Given the description of an element on the screen output the (x, y) to click on. 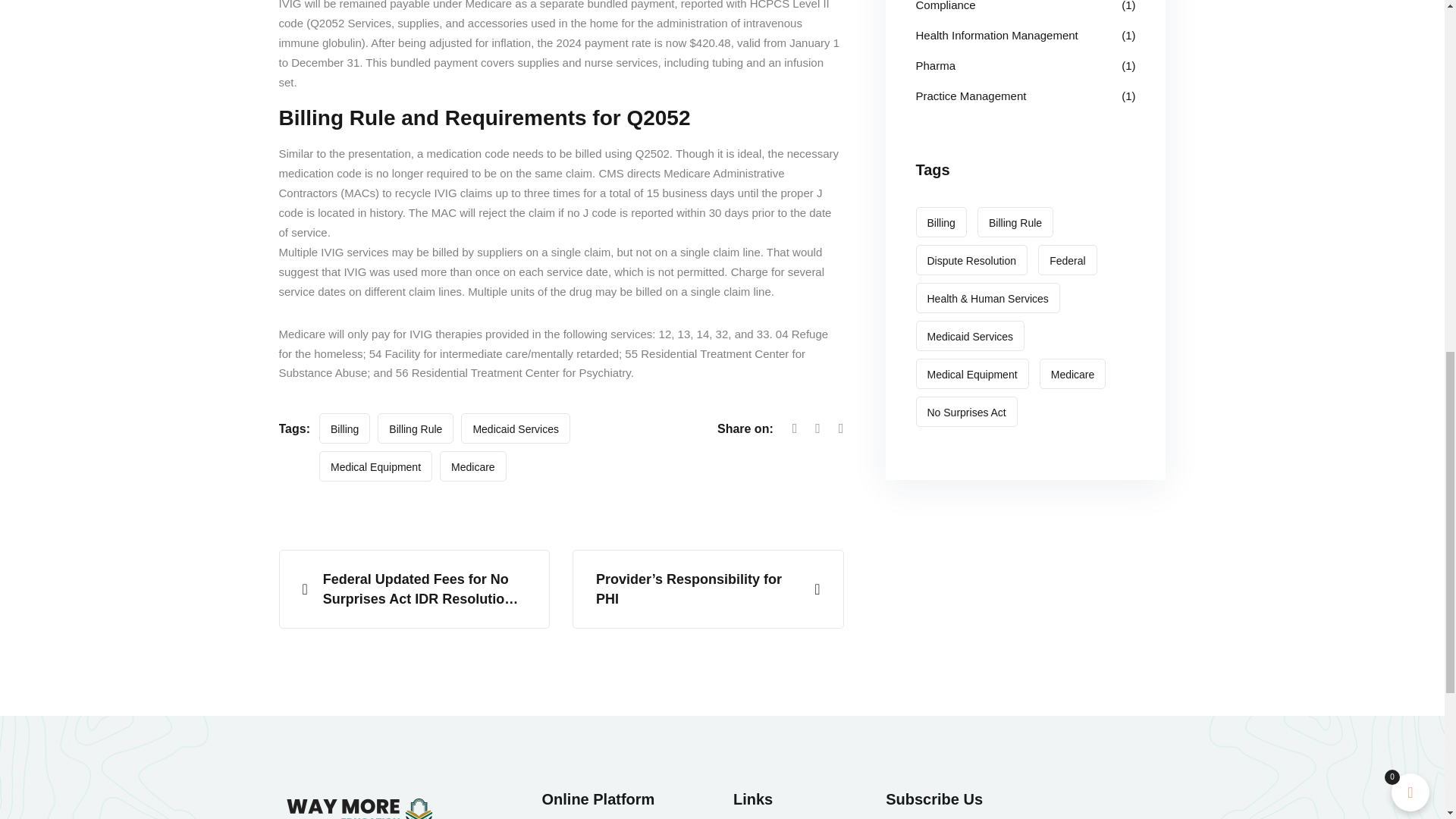
Pharma (935, 66)
Compliance (945, 7)
Billing (343, 428)
Medical Equipment (375, 466)
Health Information Management (996, 35)
Practice Management (970, 96)
Medicare (472, 466)
Billing Rule (414, 428)
Medicaid Services (515, 428)
